Given the description of an element on the screen output the (x, y) to click on. 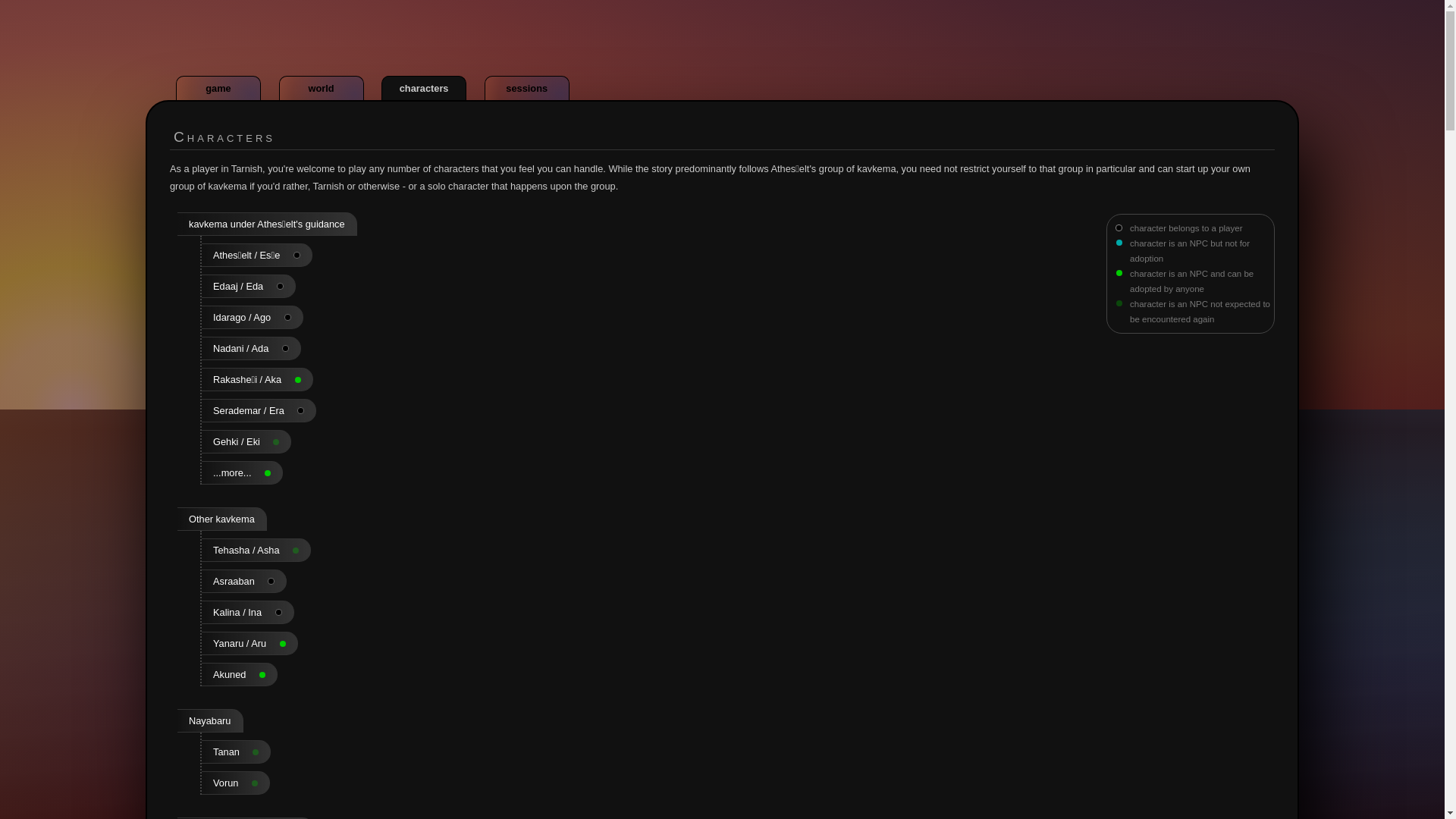
world (321, 87)
characters (423, 87)
...more... (242, 472)
Tanan (236, 751)
Asraaban (244, 580)
Akuned (240, 674)
sessions (526, 87)
game (218, 87)
Other kavkema (221, 518)
Vorun (235, 782)
Nayabaru (210, 720)
